Given the description of an element on the screen output the (x, y) to click on. 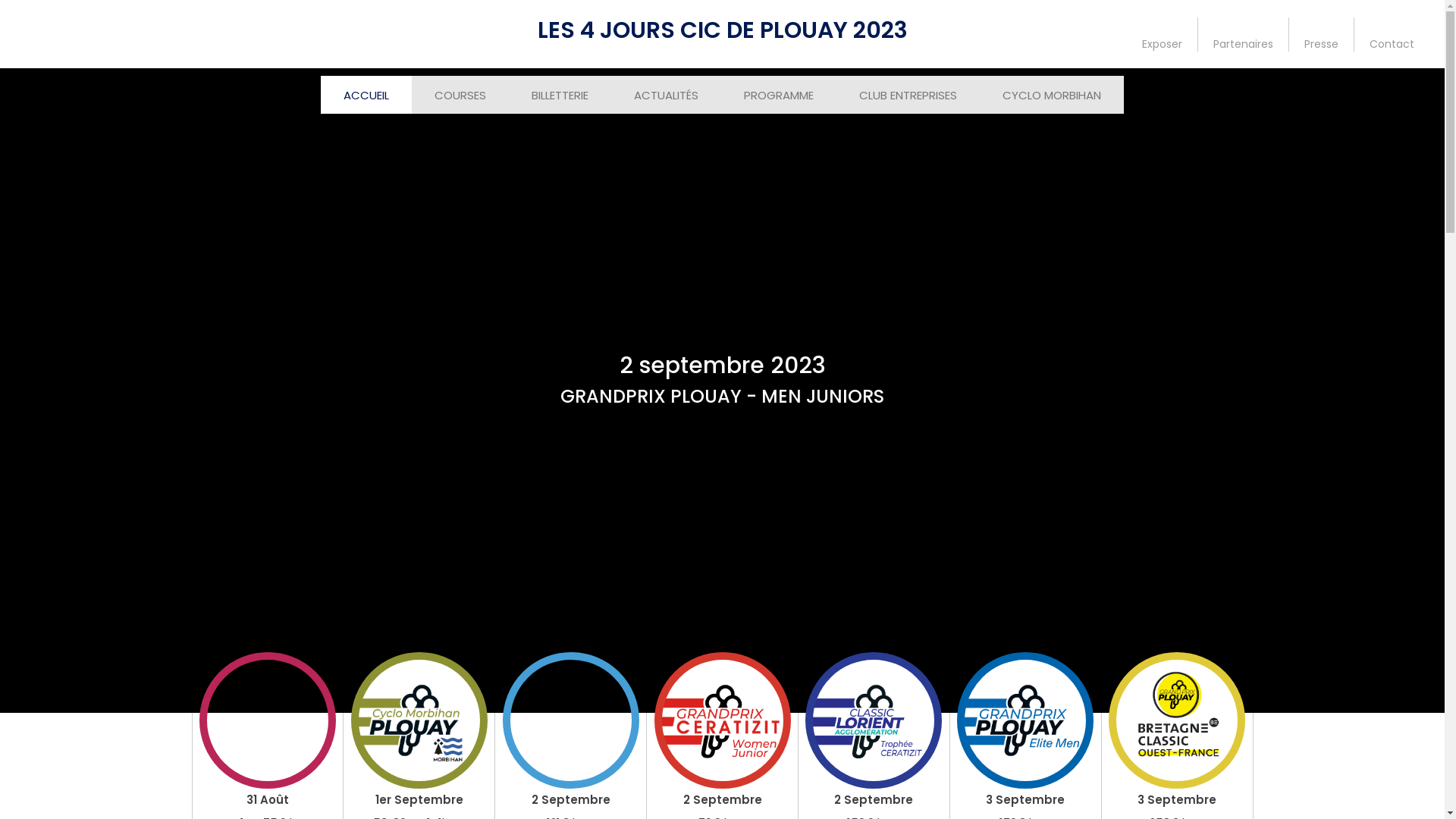
CYCLO MORBIHAN Element type: text (1051, 94)
PROGRAMME Element type: text (778, 94)
Previous Element type: text (14, 390)
Presse Element type: text (1321, 33)
LES 4 JOURS CIC DE PLOUAY 2023 Element type: text (721, 29)
Exposer Element type: text (1162, 33)
Next Element type: text (1429, 390)
Partenaires Element type: text (1243, 33)
ACCUEIL Element type: text (366, 94)
Contact Element type: text (1391, 33)
